Given the description of an element on the screen output the (x, y) to click on. 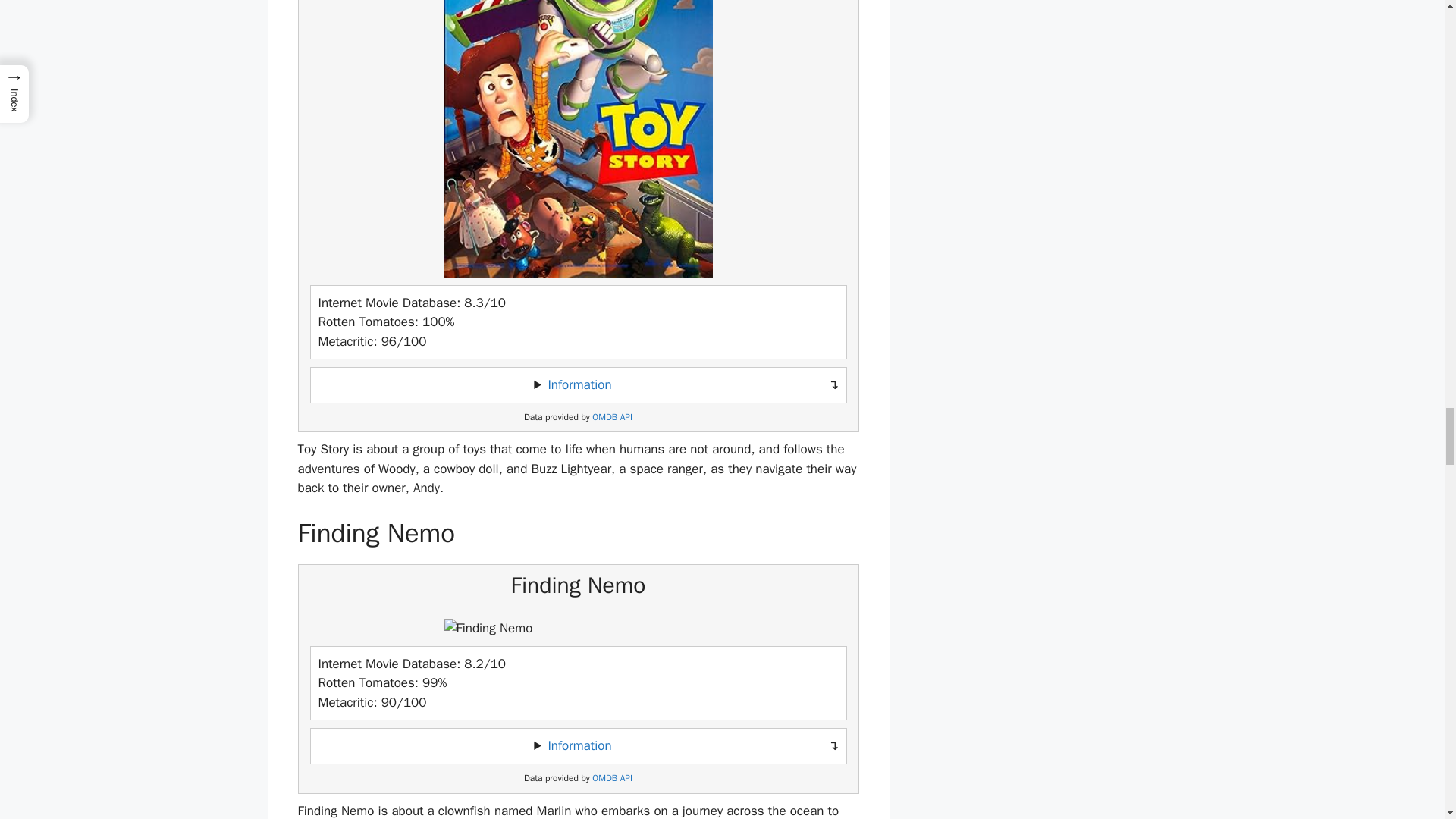
Information (579, 745)
OMDB API (611, 417)
OMDB API (611, 778)
Information (579, 384)
